Given the description of an element on the screen output the (x, y) to click on. 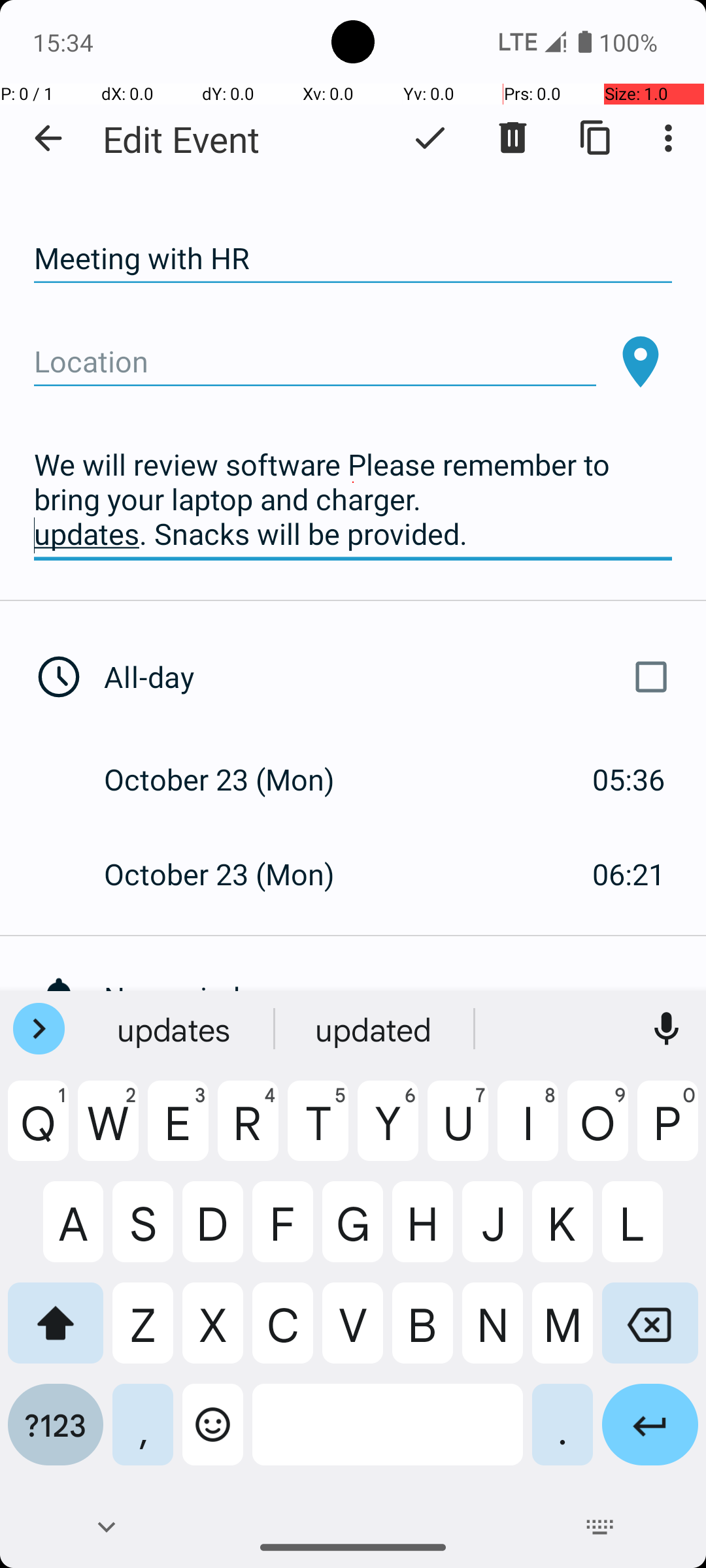
We will review software Please remember to bring your laptop and charger.
updates. Snacks will be provided. Element type: android.widget.EditText (352, 499)
October 23 (Mon) Element type: android.widget.TextView (232, 778)
05:36 Element type: android.widget.TextView (628, 778)
06:21 Element type: android.widget.TextView (628, 873)
updates Element type: android.widget.FrameLayout (175, 1028)
updated Element type: android.widget.FrameLayout (375, 1028)
